Given the description of an element on the screen output the (x, y) to click on. 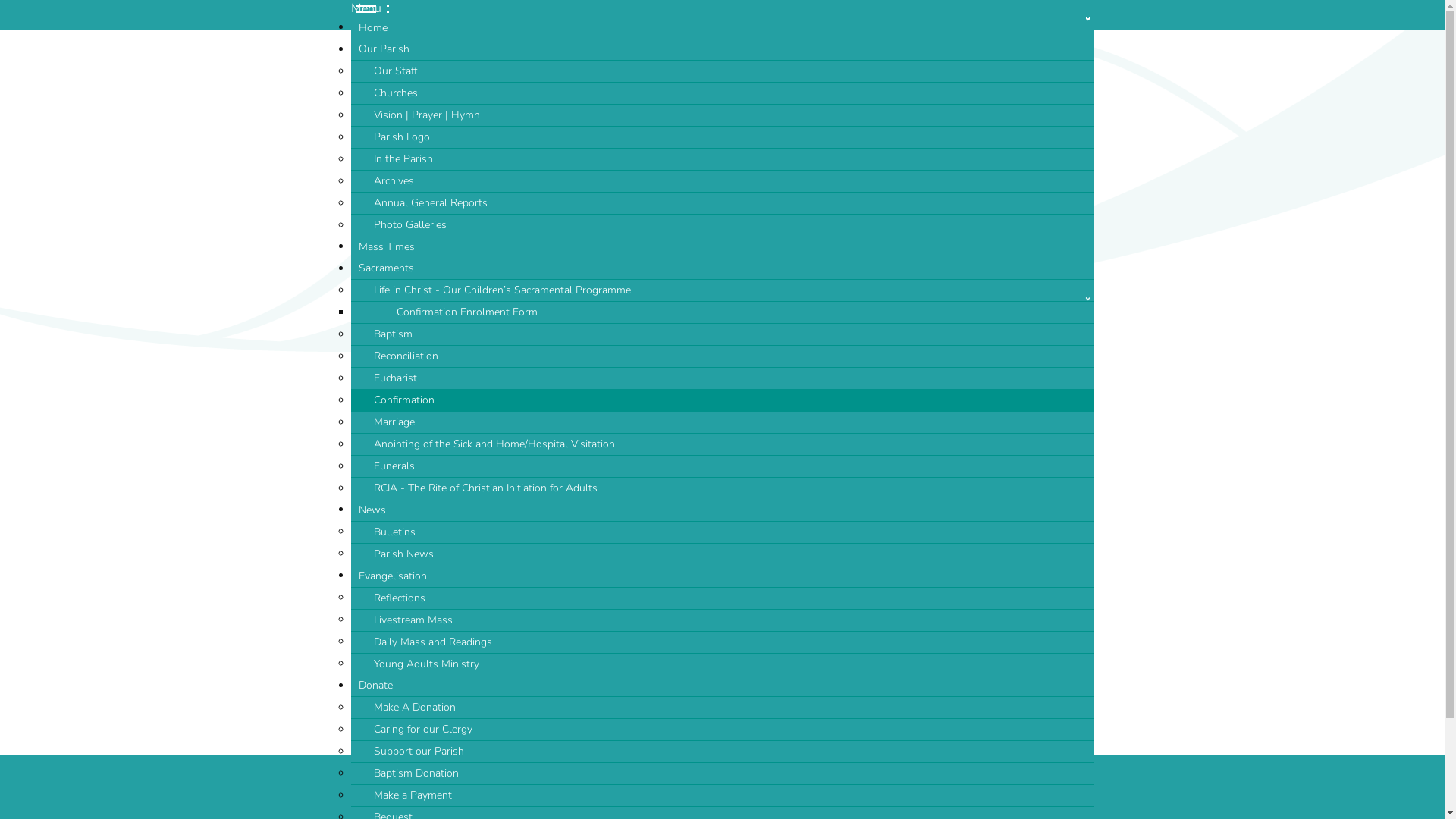
Mass Preparation Form Element type: text (587, 802)
Our Parish
  Element type: text (721, 48)
In the Parish Element type: text (721, 158)
Evangelisation
  Element type: text (721, 575)
Annual General Reports Element type: text (721, 202)
Young Adults Ministry Element type: text (721, 663)
Parish Logo Element type: text (721, 136)
Reconciliation Element type: text (721, 356)
Reflections Element type: text (721, 597)
Bulletin Element type: text (679, 802)
Feedback Element type: text (1061, 802)
RCIA - The Rite of Christian Initiation for Adults Element type: text (721, 487)
Baptism Element type: text (721, 334)
Photo Galleries Element type: text (721, 224)
Log WHS Issues/Incidents  Element type: text (922, 802)
Parish News Element type: text (721, 553)
Collection Notice Element type: text (536, 788)
Eucharist Element type: text (721, 378)
Security Policy Element type: text (713, 788)
Email Element type: text (1042, 465)
Menu Element type: text (369, 8)
Vision | Prayer | Hymn Element type: text (721, 114)
Print Element type: text (1010, 465)
Confirmation Element type: text (721, 400)
Livestream Mass Element type: text (721, 619)
Downloads Element type: text (425, 802)
Refund Policy Element type: text (629, 788)
Home Element type: text (721, 27)
Baptism Donation Element type: text (721, 773)
Archives Element type: text (721, 180)
Make a Payment Element type: text (721, 795)
Funerals Element type: text (721, 465)
Churches Element type: text (721, 92)
Mass Times Element type: text (721, 246)
Confirmation Enrolment Form Element type: text (721, 312)
Bulletins Element type: text (721, 531)
Our Staff Element type: text (721, 70)
Sacraments
  Element type: text (721, 268)
News
  Element type: text (721, 509)
Support our Parish Element type: text (721, 751)
EOD Element type: text (1017, 802)
Marriage Element type: text (721, 422)
CDF Element type: text (780, 802)
Make A Donation Element type: text (721, 707)
wollongong@dow.org.au Element type: text (496, 691)
Anointing of the Sick and Home/Hospital Visitation Element type: text (721, 444)
iAuditor Element type: text (823, 802)
Privacy Policy Element type: text (446, 788)
Webmail Element type: text (734, 802)
Donate
  Element type: text (721, 685)
Caring for our Clergy Element type: text (721, 729)
Music List Element type: text (492, 802)
Daily Mass and Readings Element type: text (721, 641)
